Given the description of an element on the screen output the (x, y) to click on. 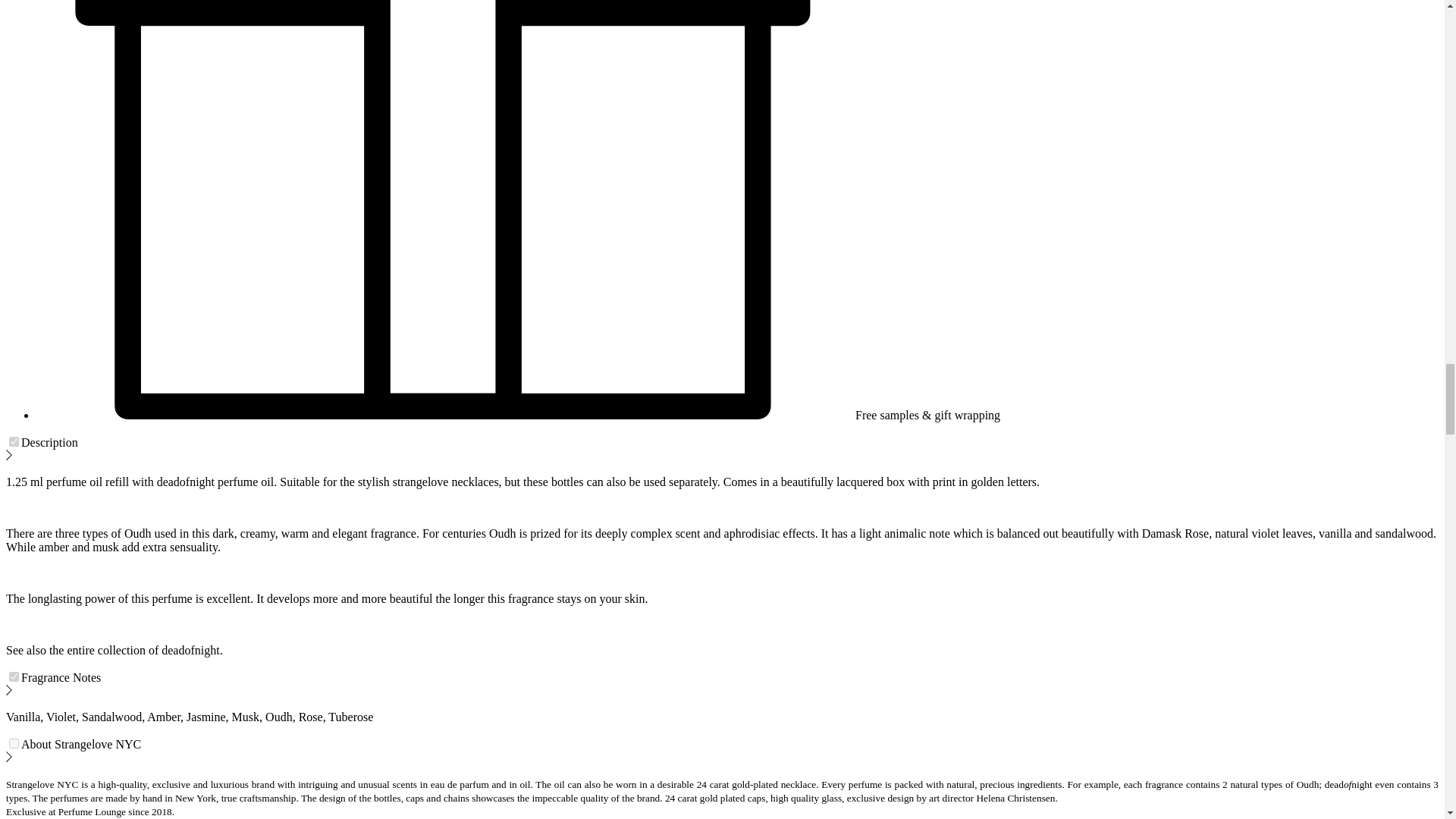
on (13, 676)
on (13, 441)
on (13, 743)
